Given the description of an element on the screen output the (x, y) to click on. 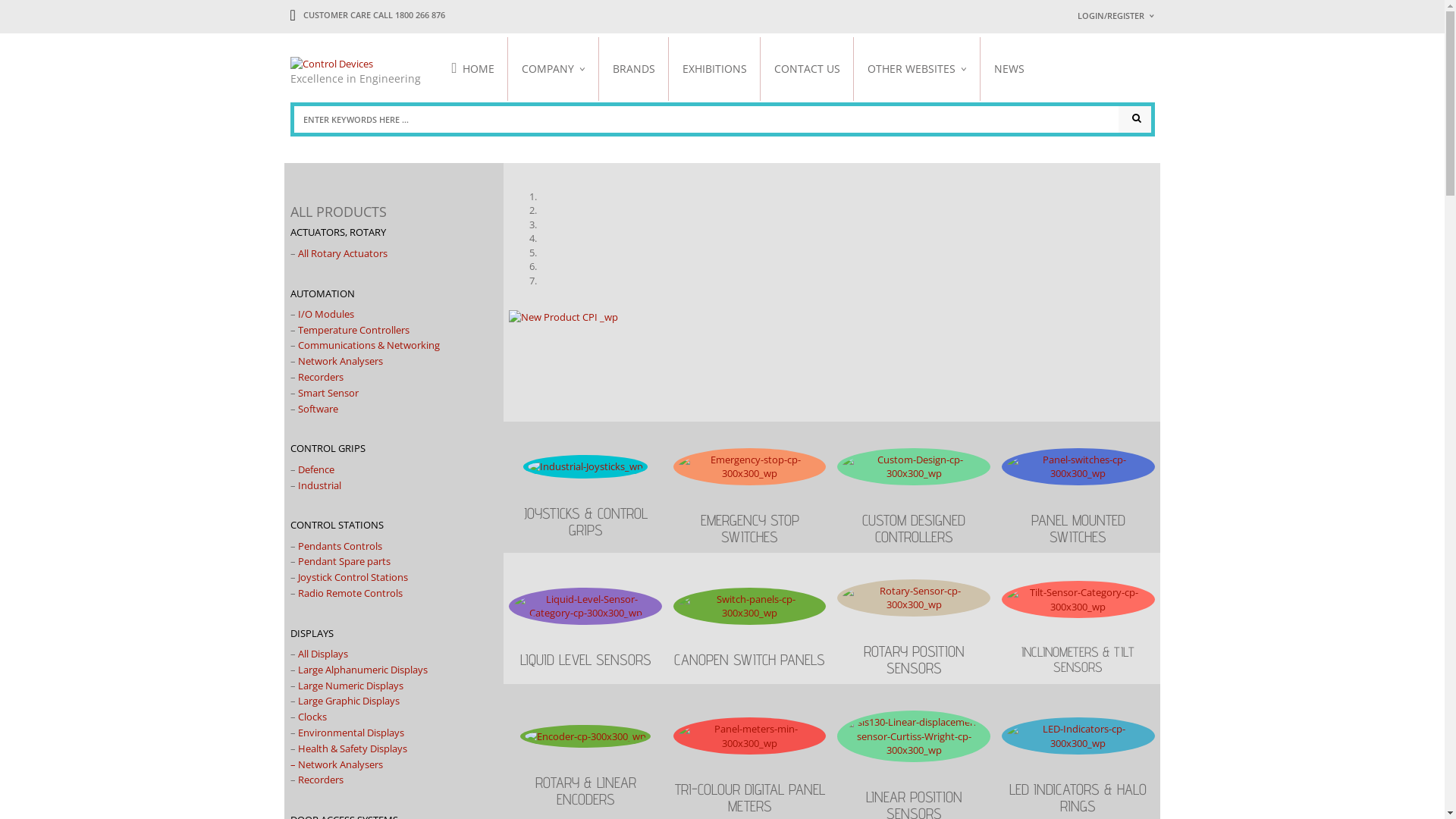
ACTUATORS, ROTARY Element type: text (337, 231)
Recorders Element type: text (319, 779)
EXHIBITIONS Element type: text (714, 68)
I/O Modules Element type: text (325, 313)
Smart Sensor Element type: text (327, 392)
CONTACT US Element type: text (806, 68)
Software Element type: text (317, 408)
Defence Element type: text (315, 469)
Large Numeric Displays Element type: text (349, 685)
COMPANY Element type: text (553, 68)
Clocks Element type: text (311, 716)
LOGIN/REGISTER Element type: text (1115, 15)
Radio Remote Controls Element type: text (349, 592)
Large Alphanumeric Displays Element type: text (361, 669)
Industrial Element type: text (318, 484)
All Rotary Actuators Element type: text (341, 253)
Pendant Spare parts Element type: text (343, 560)
Environmental Displays Element type: text (350, 732)
AUTOMATION Element type: text (321, 293)
Network Analysers Element type: text (339, 764)
NEWS Element type: text (1009, 68)
Network Analysers Element type: text (339, 360)
Login Element type: text (1283, 212)
Large Graphic Displays Element type: text (347, 700)
OTHER WEBSITES Element type: text (916, 68)
Pendants Controls Element type: text (339, 545)
Health & Safety Displays Element type: text (351, 748)
CONTROL STATIONS Element type: text (335, 524)
Recorders Element type: text (319, 376)
DISPLAYS Element type: text (310, 633)
Communications & Networking Element type: text (368, 344)
All Displays Element type: text (322, 653)
BRANDS Element type: text (633, 68)
Search Element type: text (1133, 119)
CONTROL GRIPS Element type: text (326, 448)
Temperature Controllers Element type: text (352, 329)
Joystick Control Stations Element type: text (352, 576)
HOME Element type: text (479, 67)
